Given the description of an element on the screen output the (x, y) to click on. 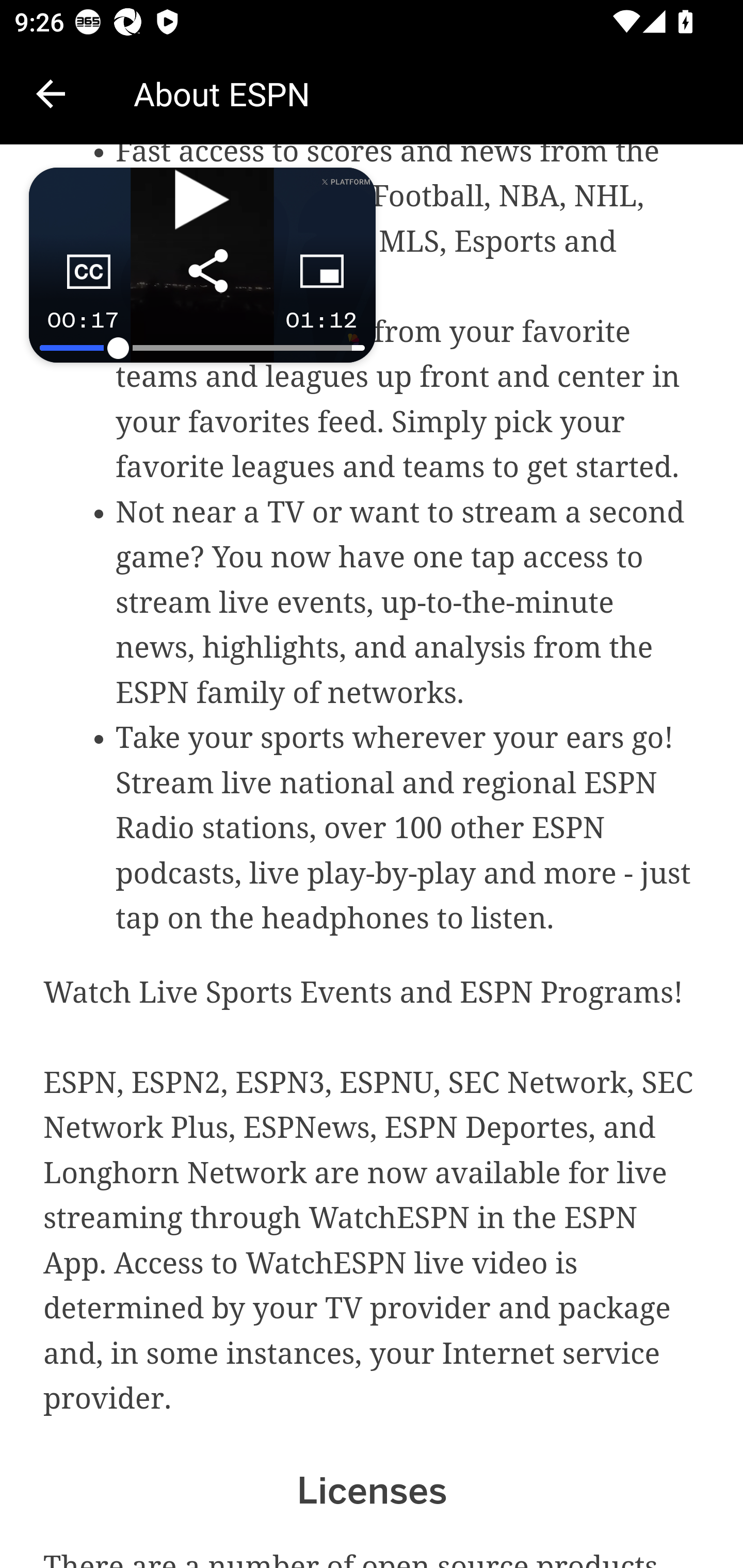
Navigate up (50, 93)
